Given the description of an element on the screen output the (x, y) to click on. 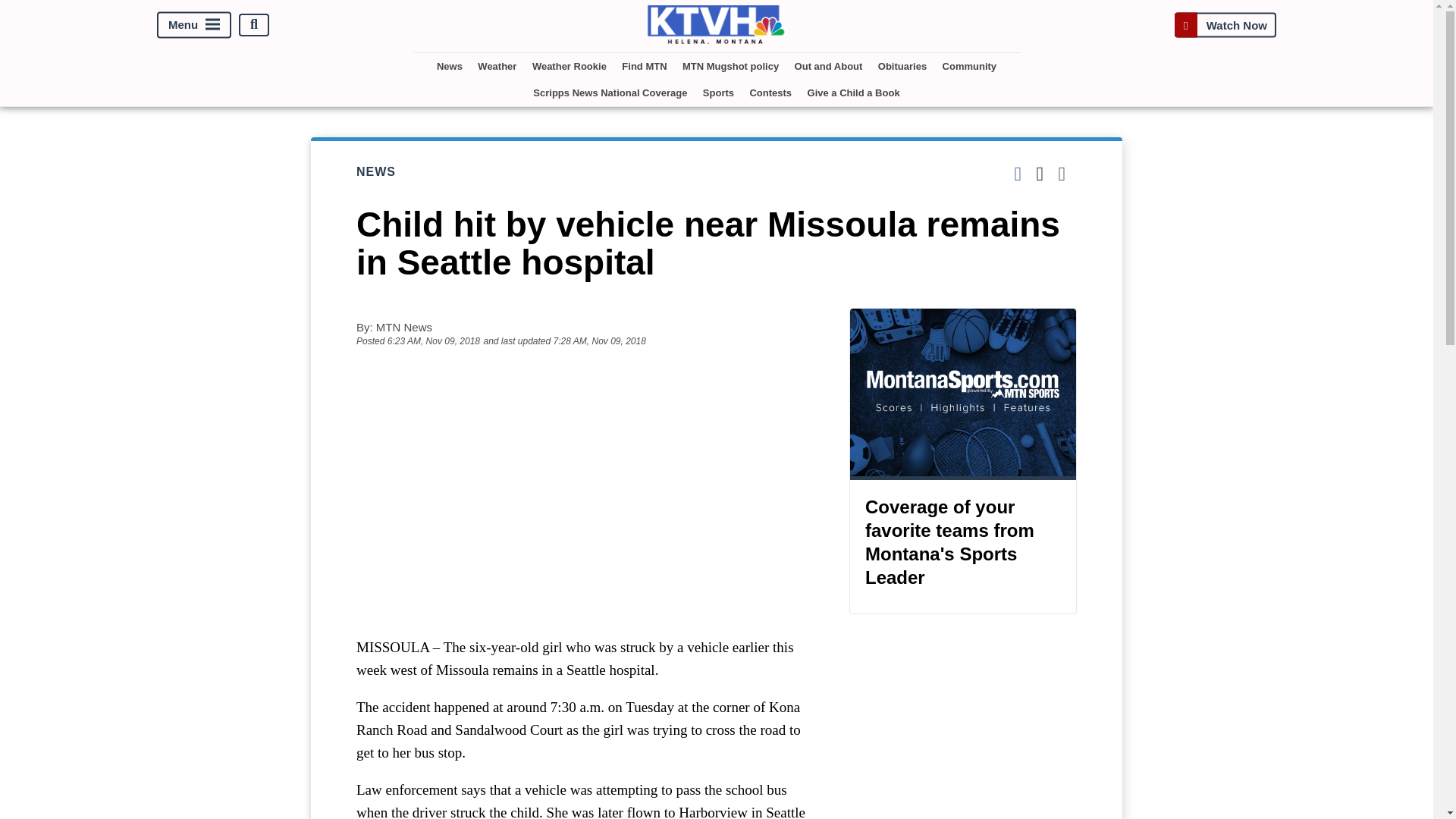
Menu (194, 24)
YouTube player (587, 491)
Watch Now (1224, 24)
